Given the description of an element on the screen output the (x, y) to click on. 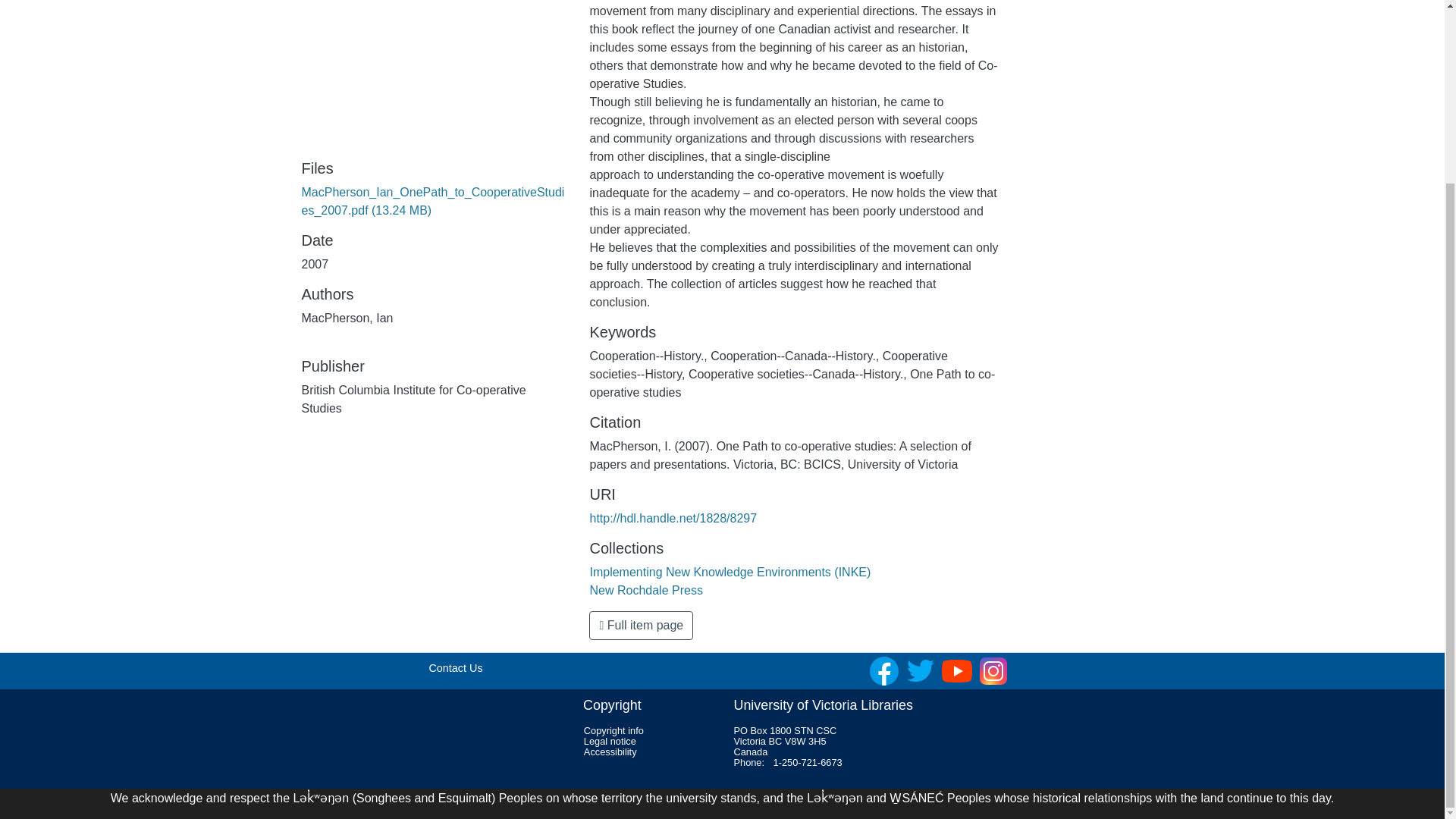
Contact Us (454, 667)
New Rochdale Press (645, 590)
Full item page (641, 624)
